Given the description of an element on the screen output the (x, y) to click on. 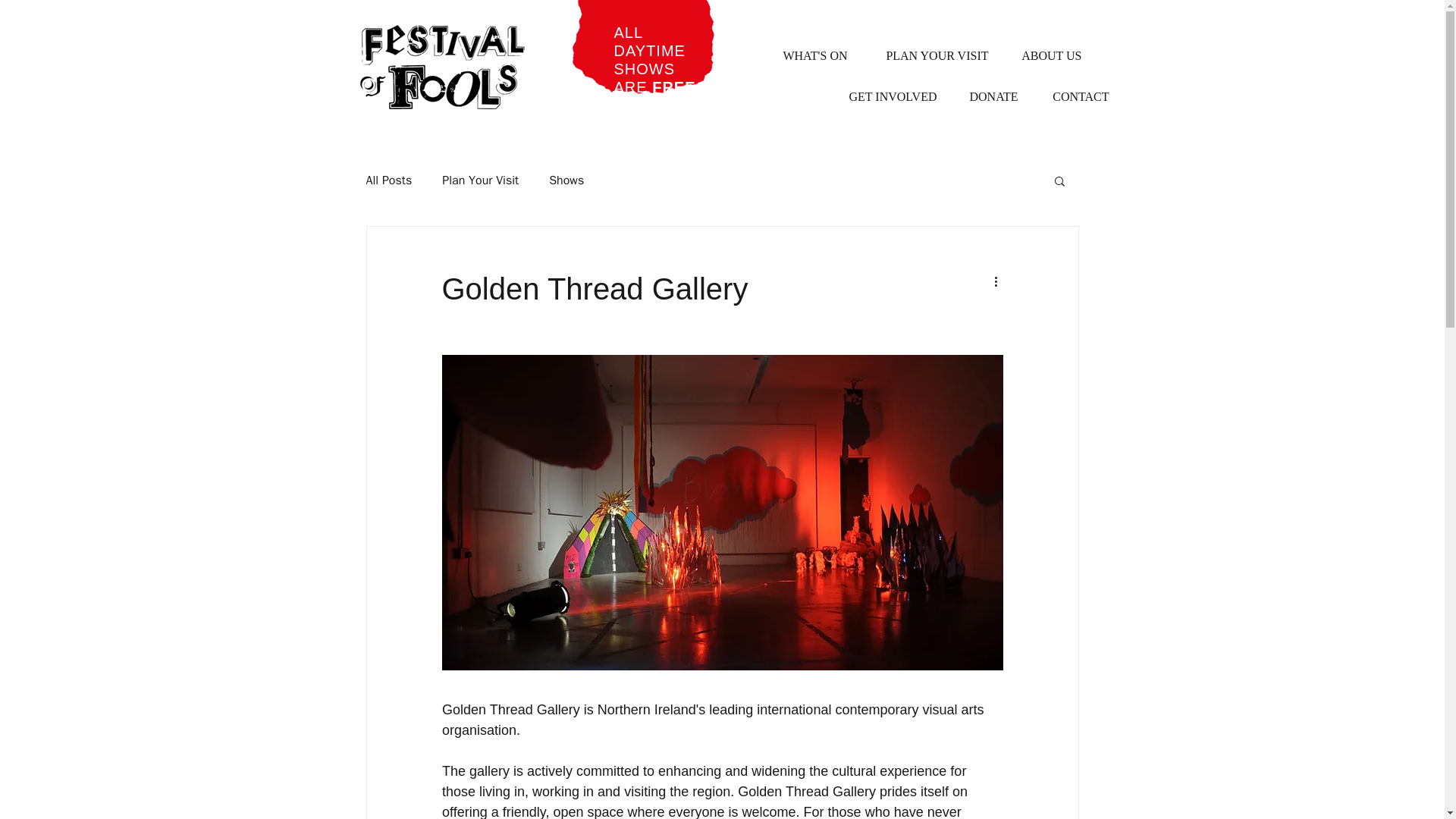
CONTACT (1075, 96)
All Posts (388, 180)
ABOUT US (1045, 56)
Shows (565, 180)
GET INVOLVED (886, 96)
Plan Your Visit (480, 180)
DONATE (988, 96)
